Given the description of an element on the screen output the (x, y) to click on. 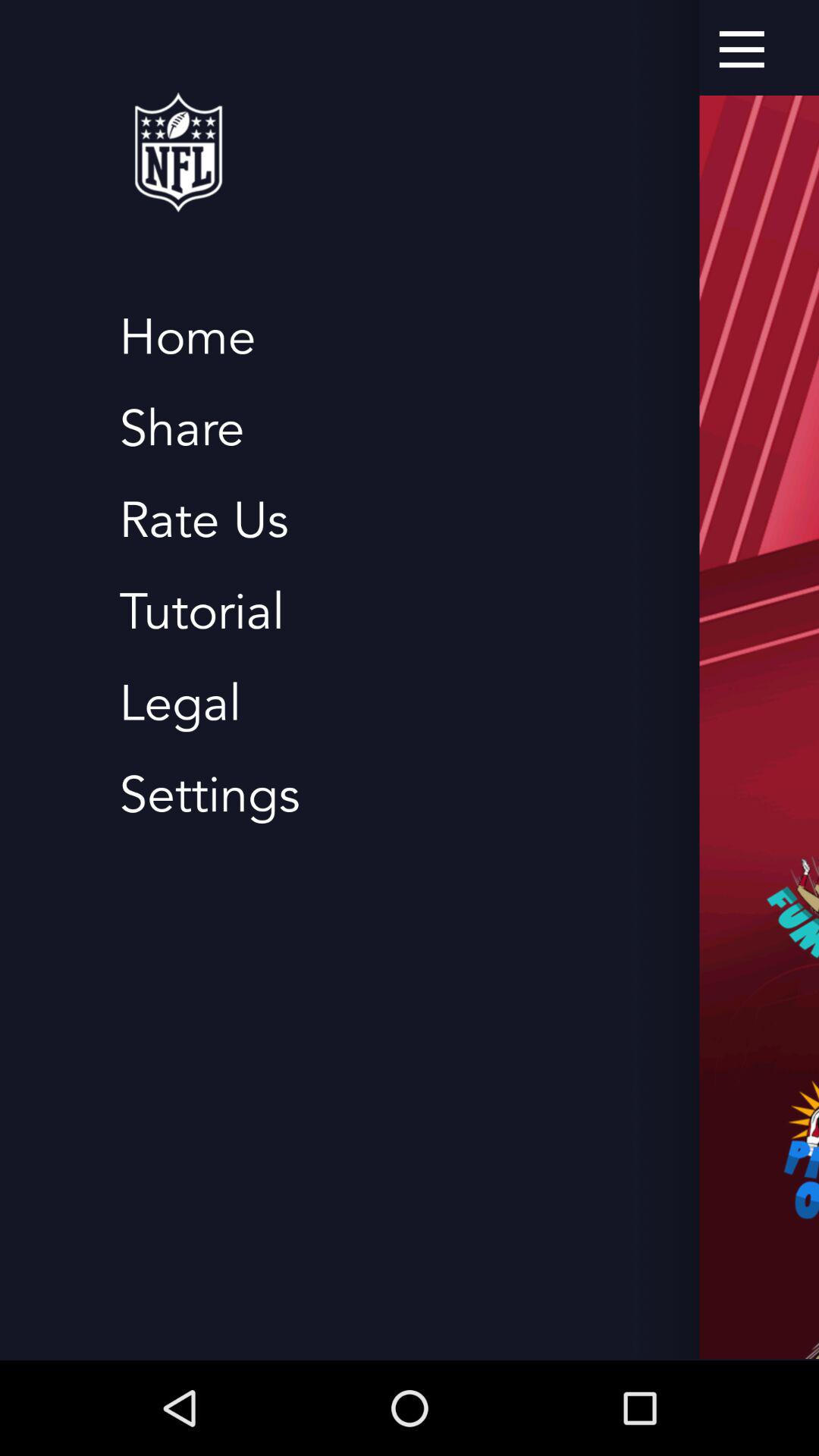
tap home (187, 337)
